Given the description of an element on the screen output the (x, y) to click on. 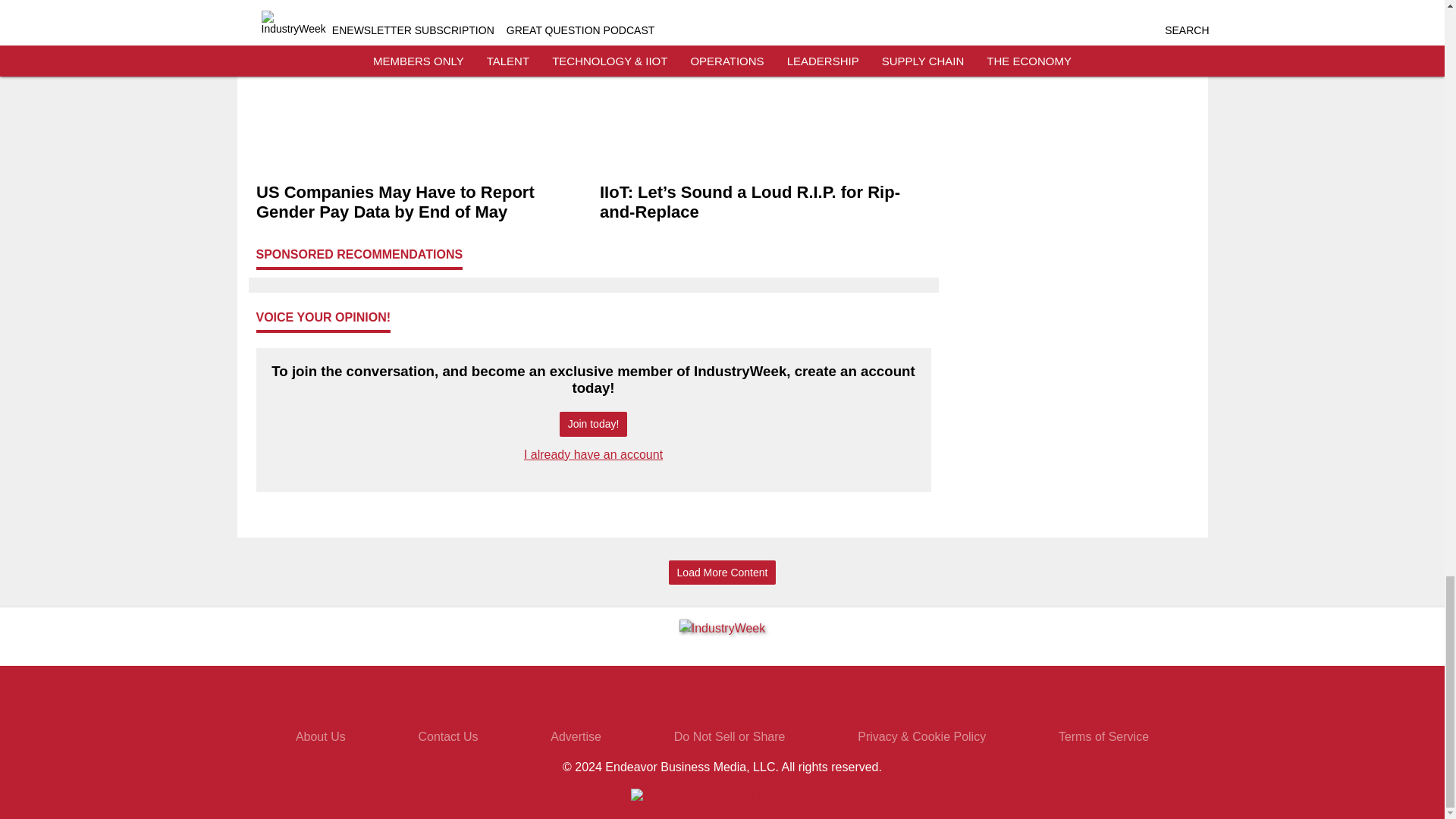
I already have an account (593, 454)
Join today! (593, 423)
